Given the description of an element on the screen output the (x, y) to click on. 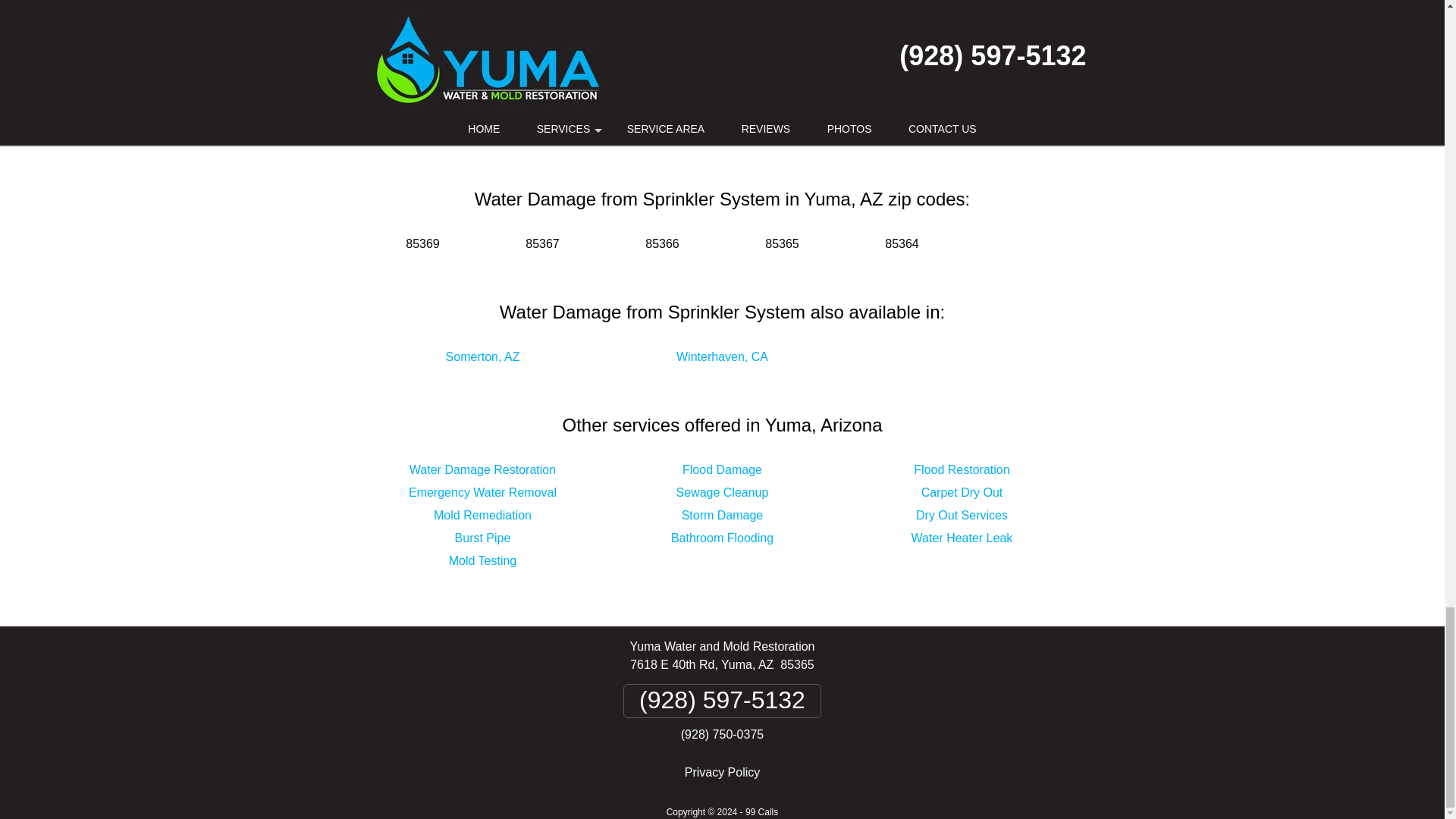
Houzz (804, 112)
Flood Damage (721, 469)
Emergency Water Removal (482, 492)
Sewage Cleanup (722, 492)
Winterhaven, CA (722, 356)
Facebook (638, 112)
Somerton, AZ (482, 356)
Flood Restoration (961, 469)
Google (694, 112)
Yelp (749, 112)
Water Damage Restoration (482, 469)
